Given the description of an element on the screen output the (x, y) to click on. 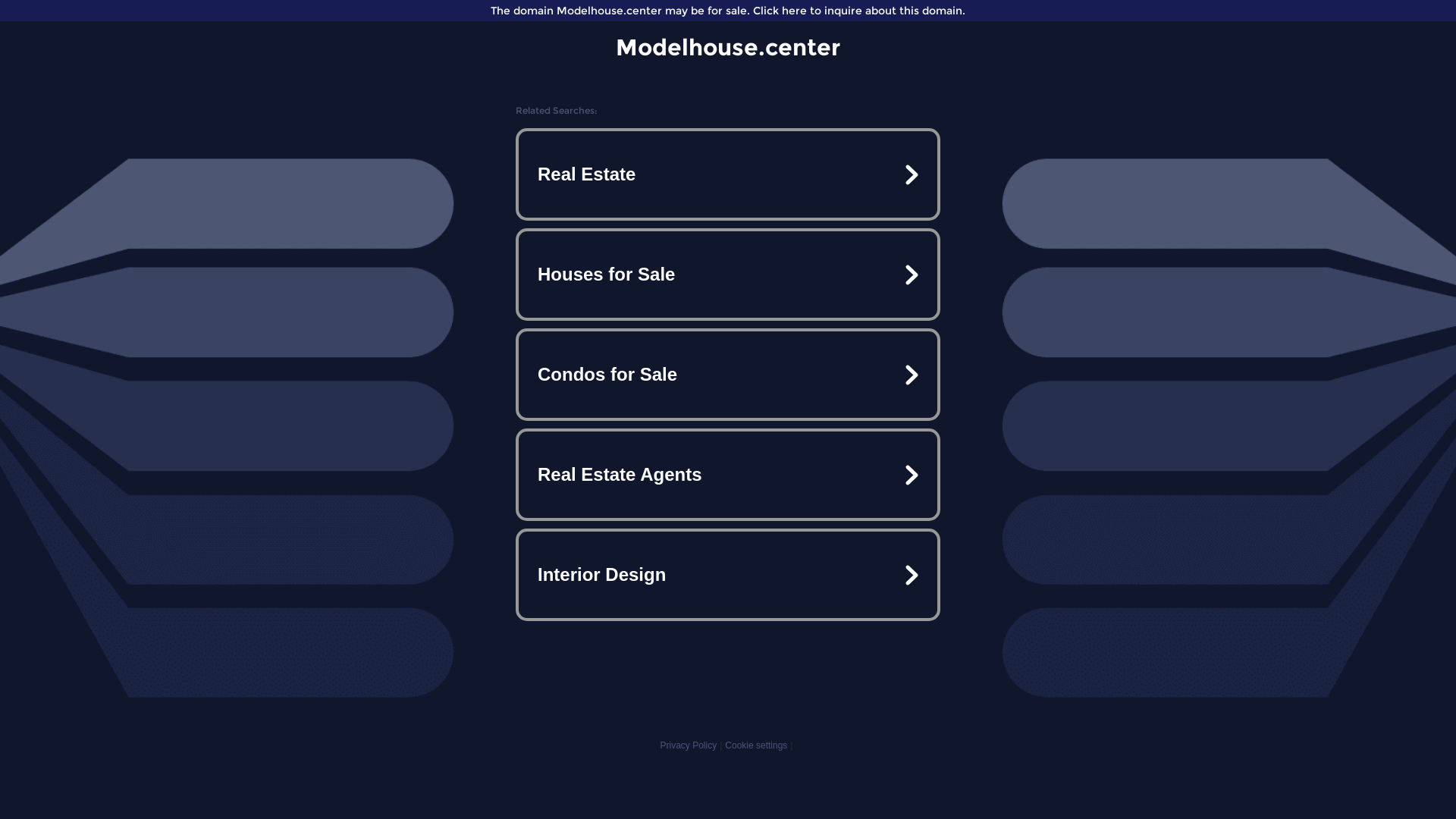
Modelhouse.center Element type: text (727, 47)
Houses for Sale Element type: text (727, 274)
Real Estate Agents Element type: text (727, 474)
Cookie settings Element type: text (755, 745)
Privacy Policy Element type: text (687, 745)
Interior Design Element type: text (727, 574)
Real Estate Element type: text (727, 174)
Condos for Sale Element type: text (727, 374)
